Given the description of an element on the screen output the (x, y) to click on. 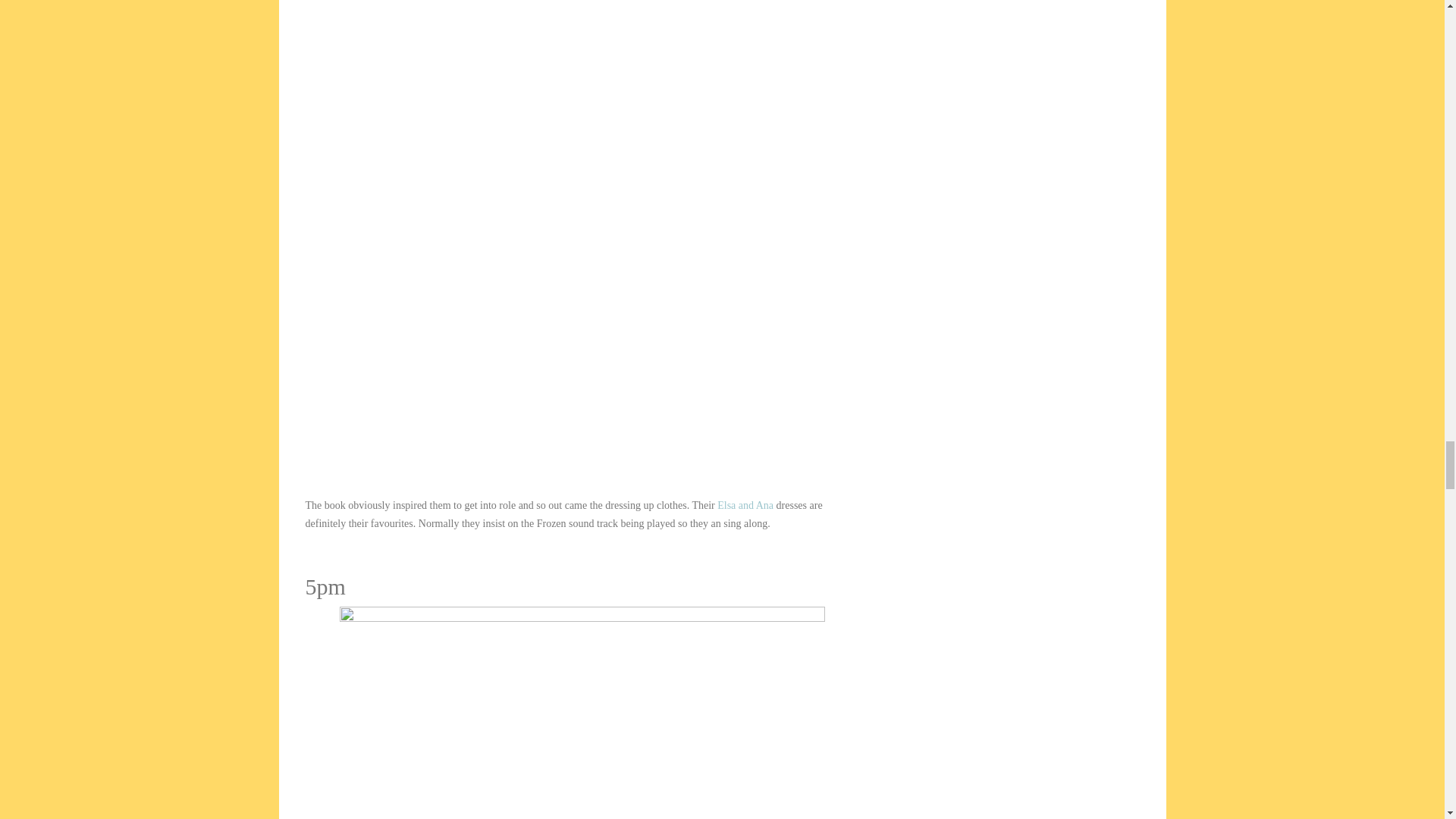
Elsa and Ana (745, 505)
